Given the description of an element on the screen output the (x, y) to click on. 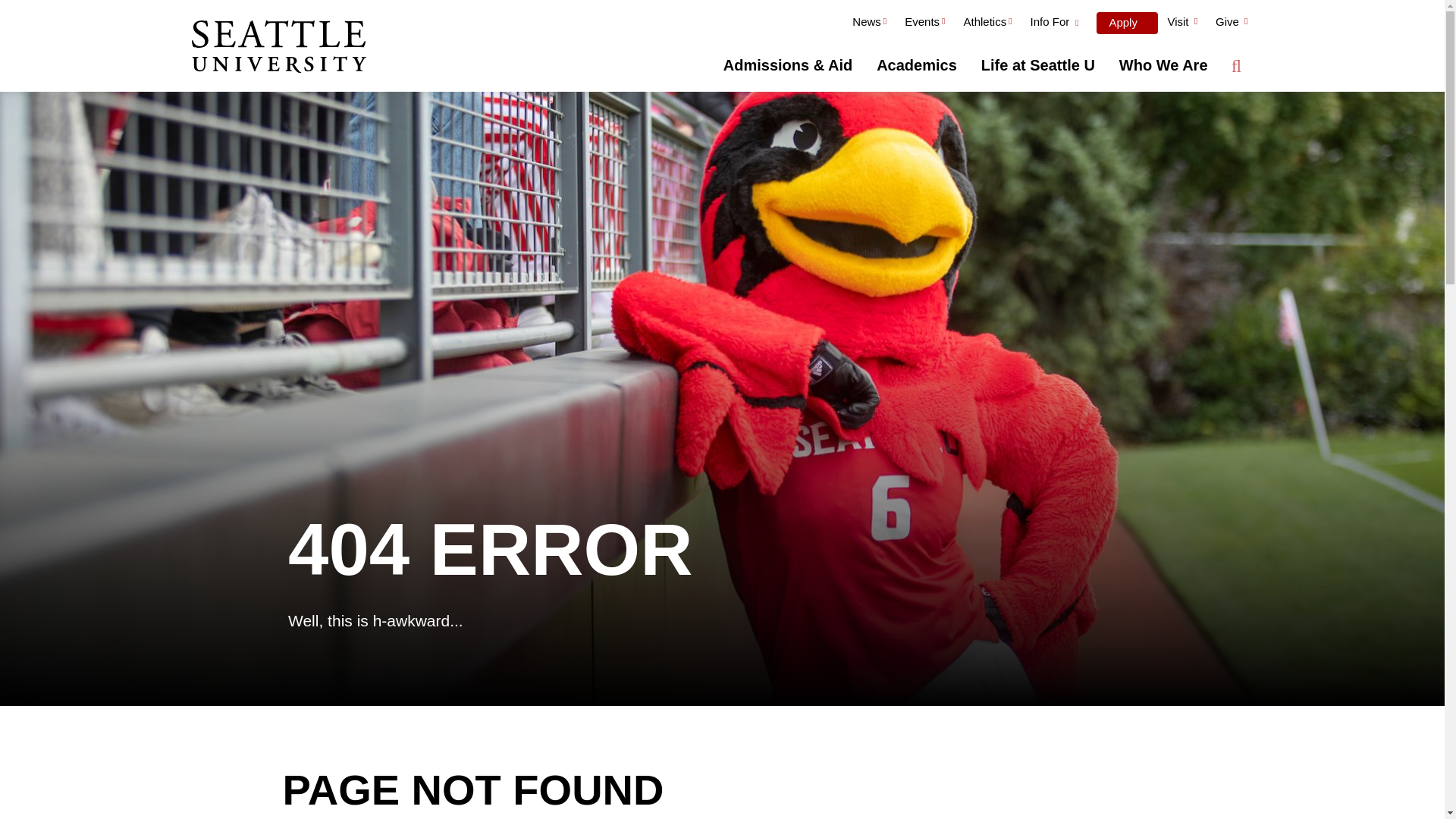
Athletics (986, 23)
Academics (916, 65)
Events (924, 23)
Give (1231, 23)
News (869, 23)
Visit (1182, 23)
Click to visit the home page (277, 47)
Life at Seattle U (1037, 65)
Apply (1126, 23)
